Given the description of an element on the screen output the (x, y) to click on. 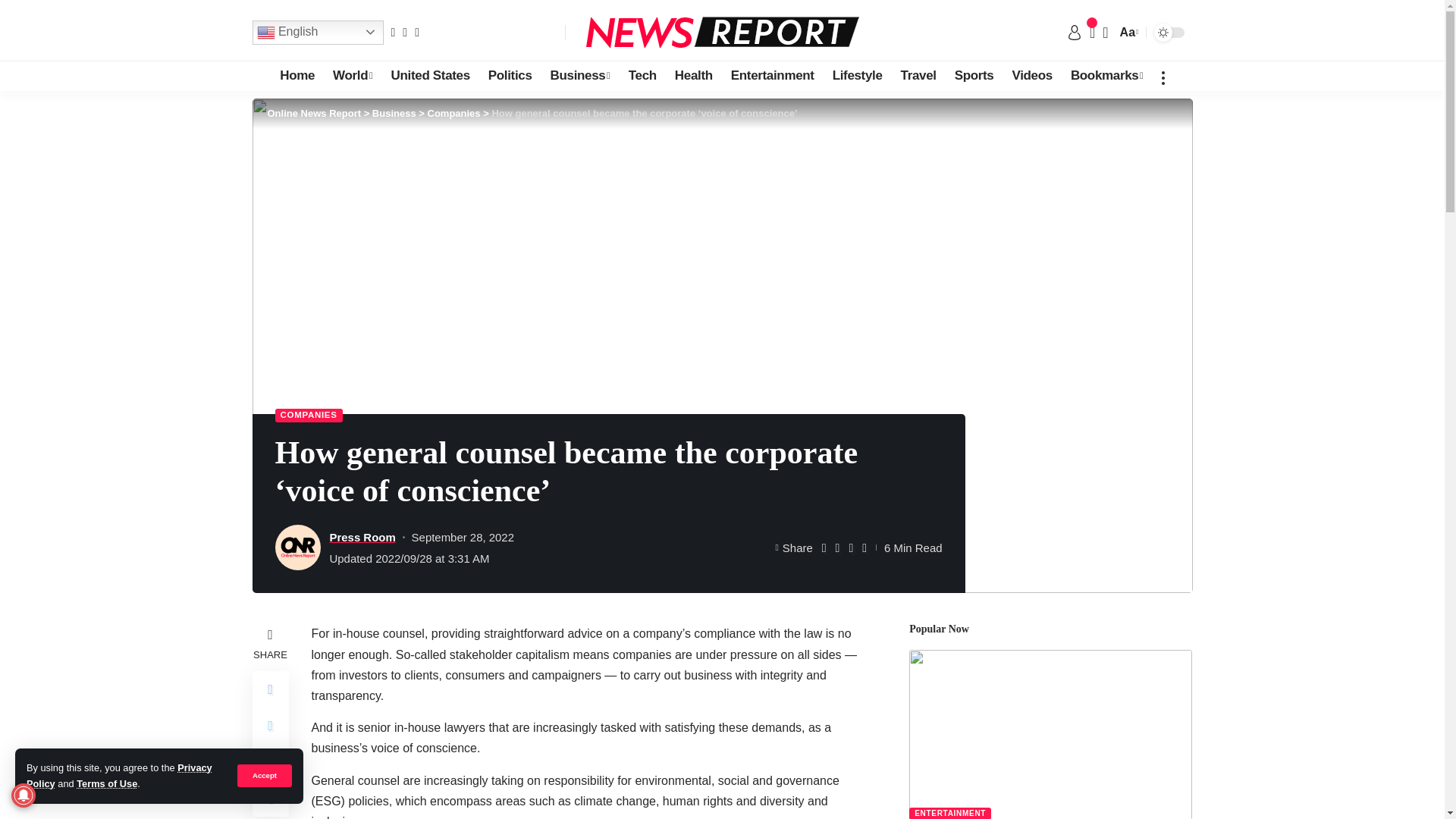
Aa (1127, 32)
Accept (264, 775)
English (316, 31)
World (352, 75)
Privacy Policy (119, 775)
Online News Report (721, 32)
Terms of Use (106, 783)
Home (296, 75)
